Given the description of an element on the screen output the (x, y) to click on. 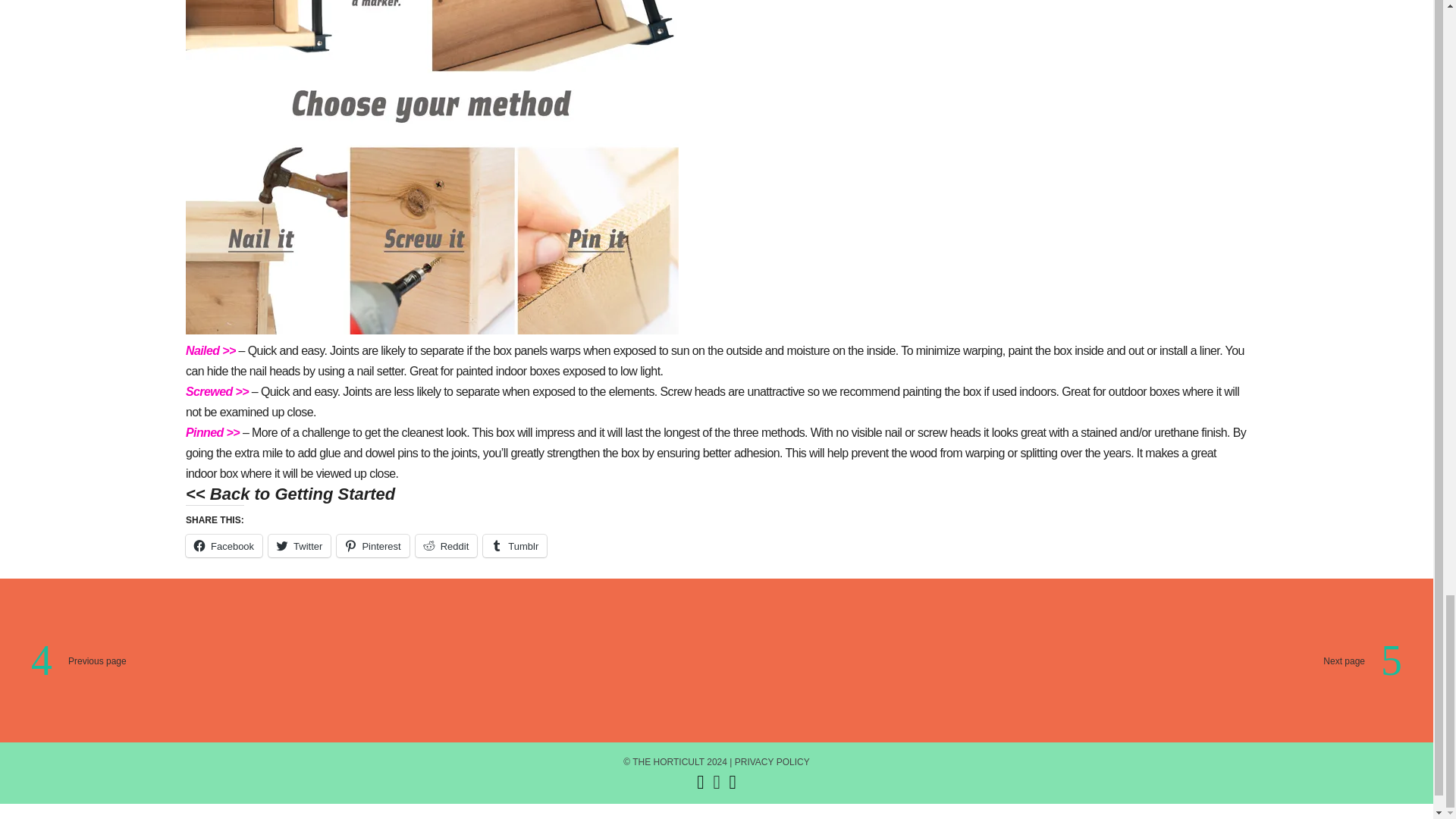
Click to share on Facebook (224, 545)
Twitter (298, 545)
PRIVACY POLICY (772, 761)
Click to share on Reddit (445, 545)
Click to share on Twitter (298, 545)
Tumblr (515, 545)
Click to share on Tumblr (515, 545)
Pinterest (372, 545)
Click to share on Pinterest (372, 545)
Reddit (445, 545)
Facebook (224, 545)
Previous page (392, 661)
